Given the description of an element on the screen output the (x, y) to click on. 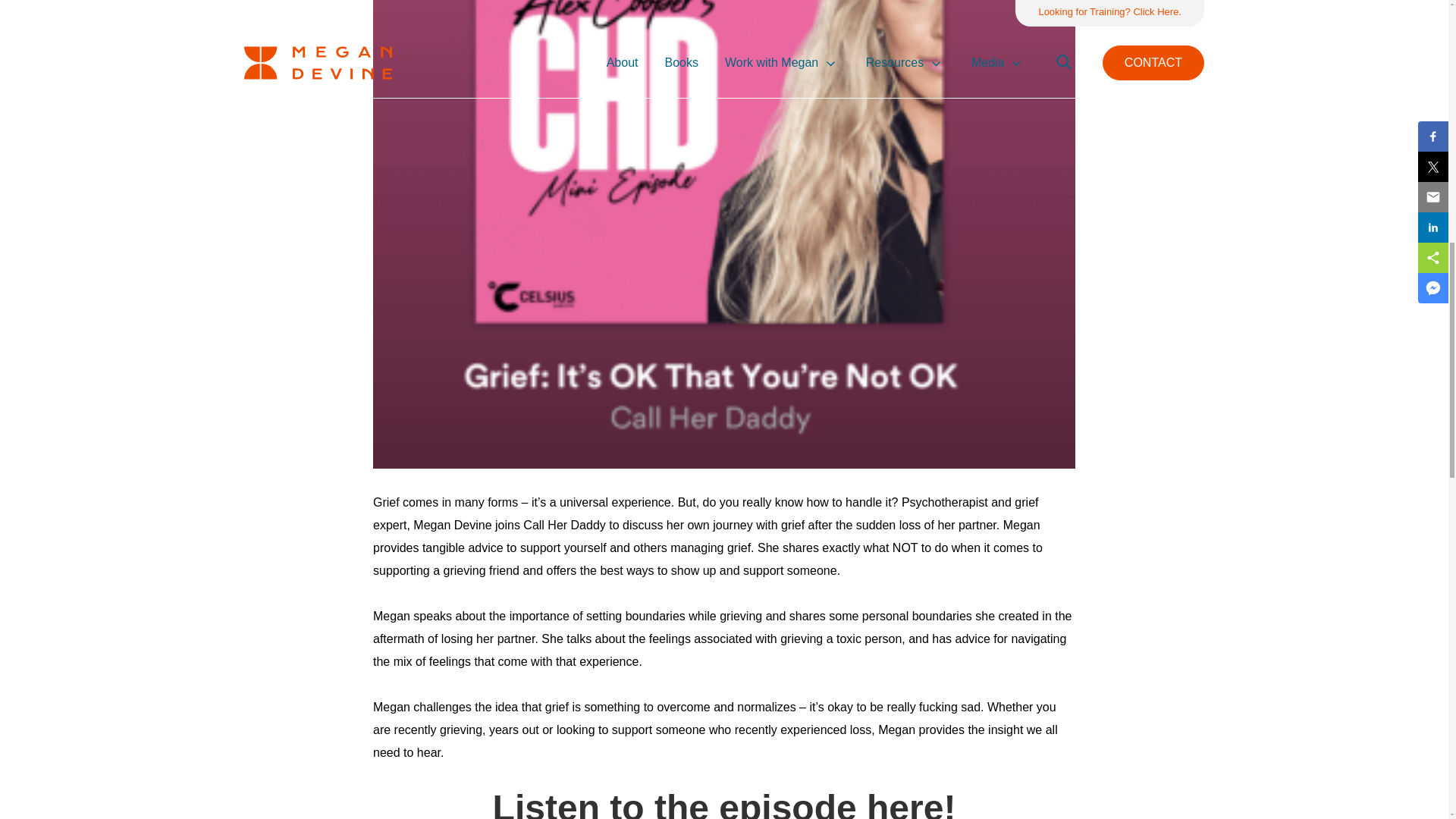
Listen to the episode here! (724, 802)
